Given the description of an element on the screen output the (x, y) to click on. 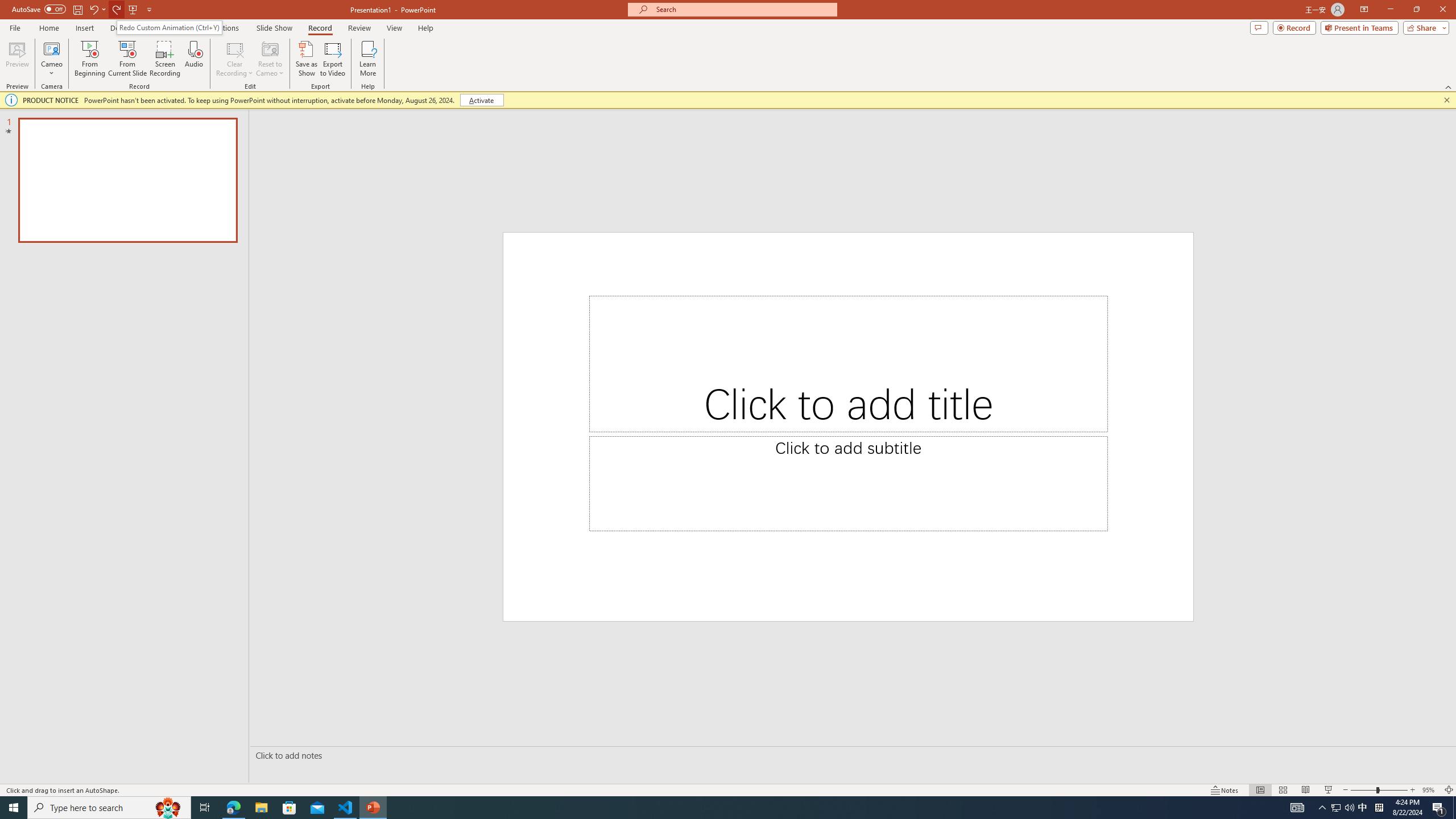
Learn More (368, 58)
Screen Recording (165, 58)
Zoom 95% (1430, 790)
Close this message (1446, 99)
